Given the description of an element on the screen output the (x, y) to click on. 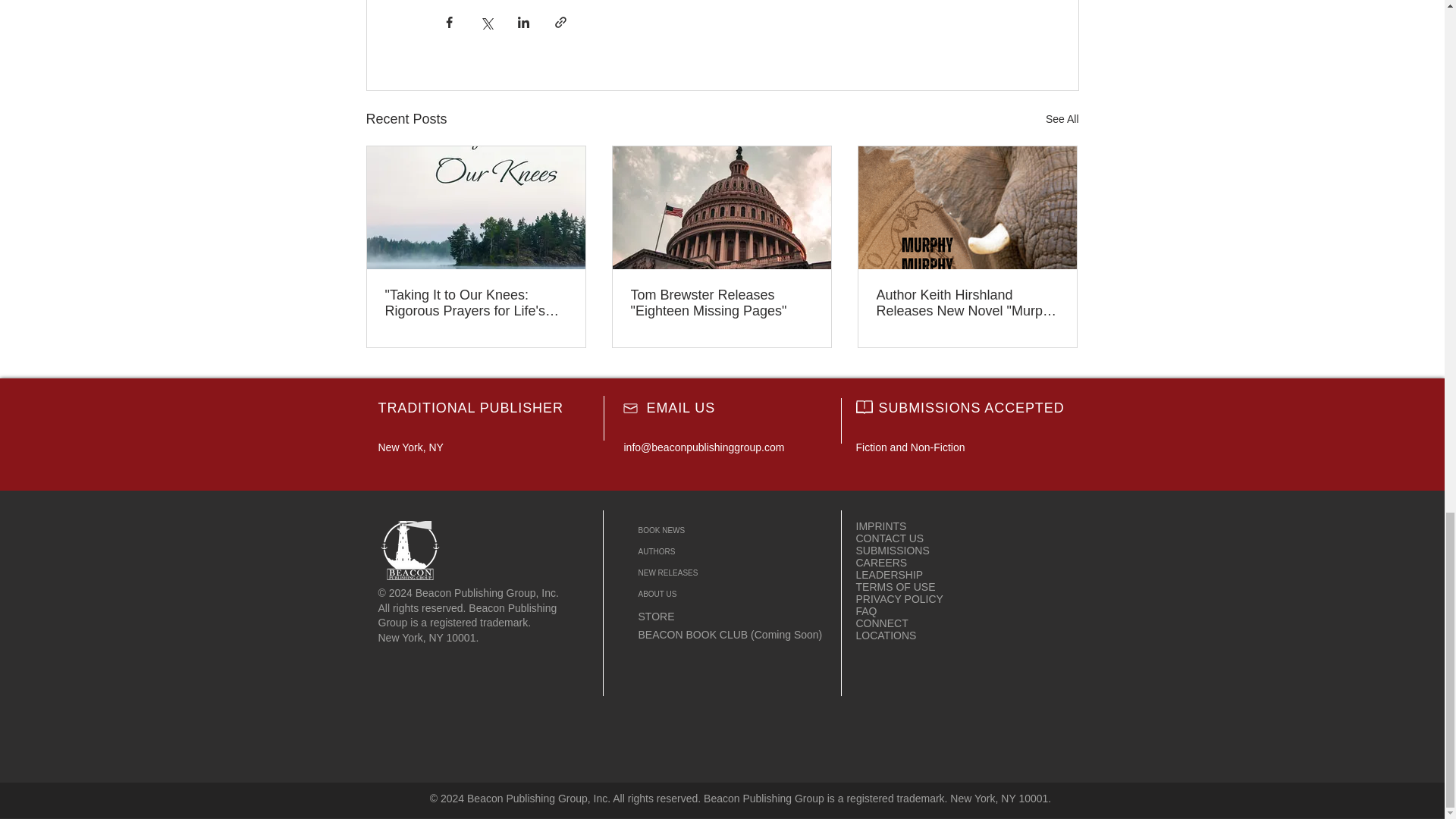
See All (1061, 119)
Tom Brewster Releases "Eighteen Missing Pages" (721, 303)
